Given the description of an element on the screen output the (x, y) to click on. 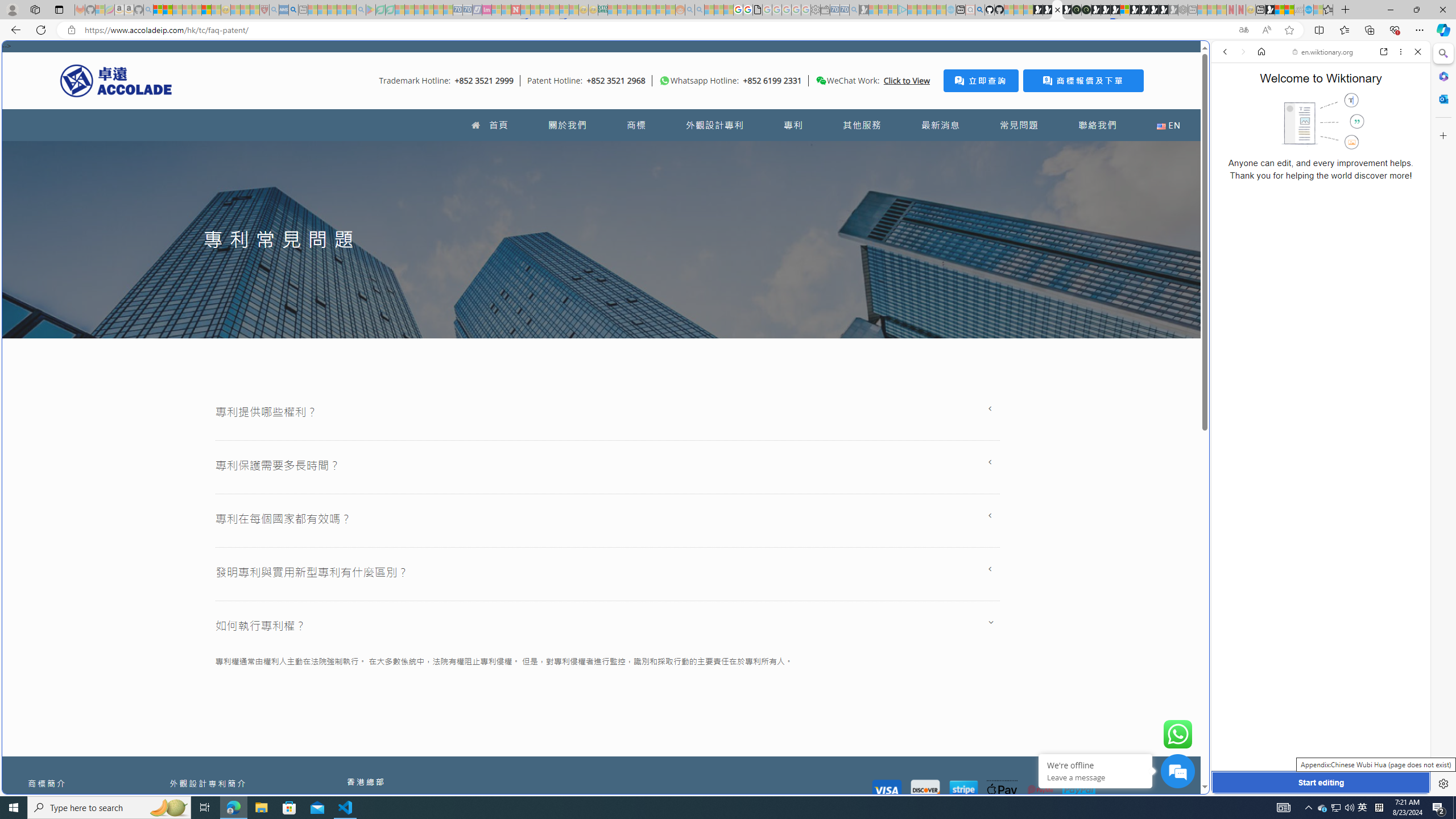
Close split screen (1208, 57)
